Given the description of an element on the screen output the (x, y) to click on. 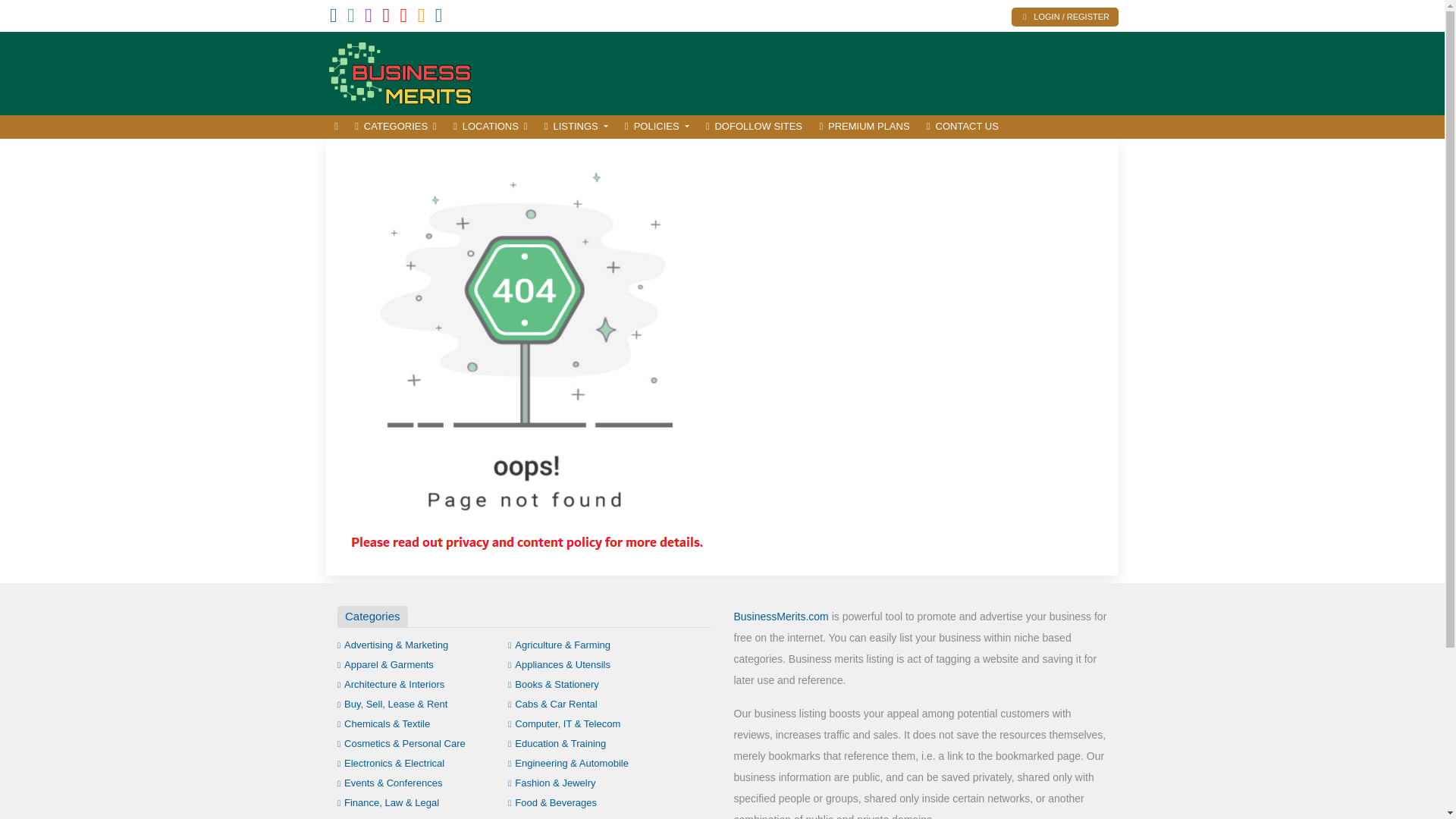
Advance Tool to Promote and Boost Your Business Leads (428, 71)
CATEGORIES (395, 126)
LOCATIONS (490, 126)
